Given the description of an element on the screen output the (x, y) to click on. 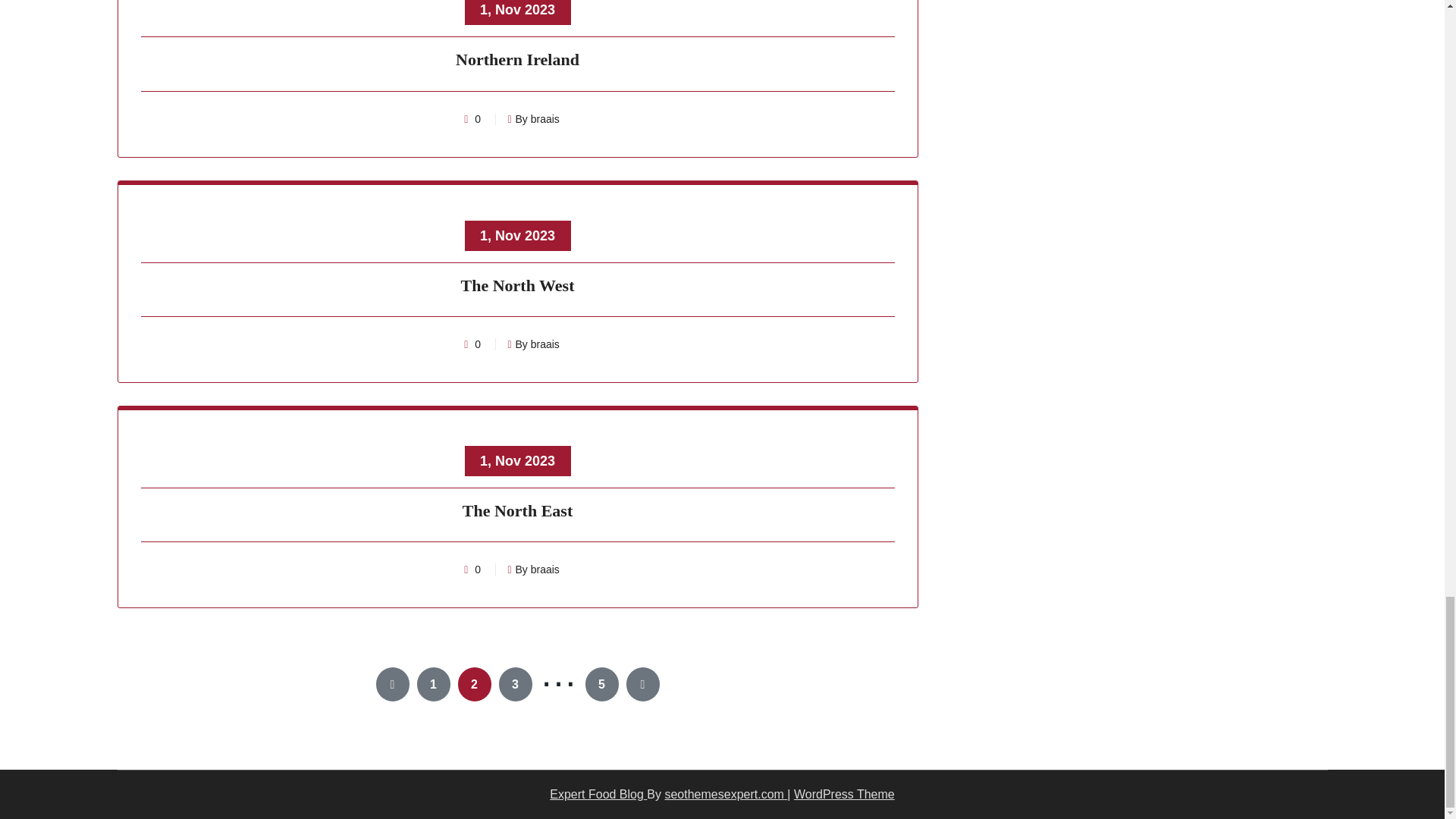
By braais (532, 119)
Northern Ireland (518, 62)
0 (478, 119)
The North West (518, 287)
0 (478, 344)
